Given the description of an element on the screen output the (x, y) to click on. 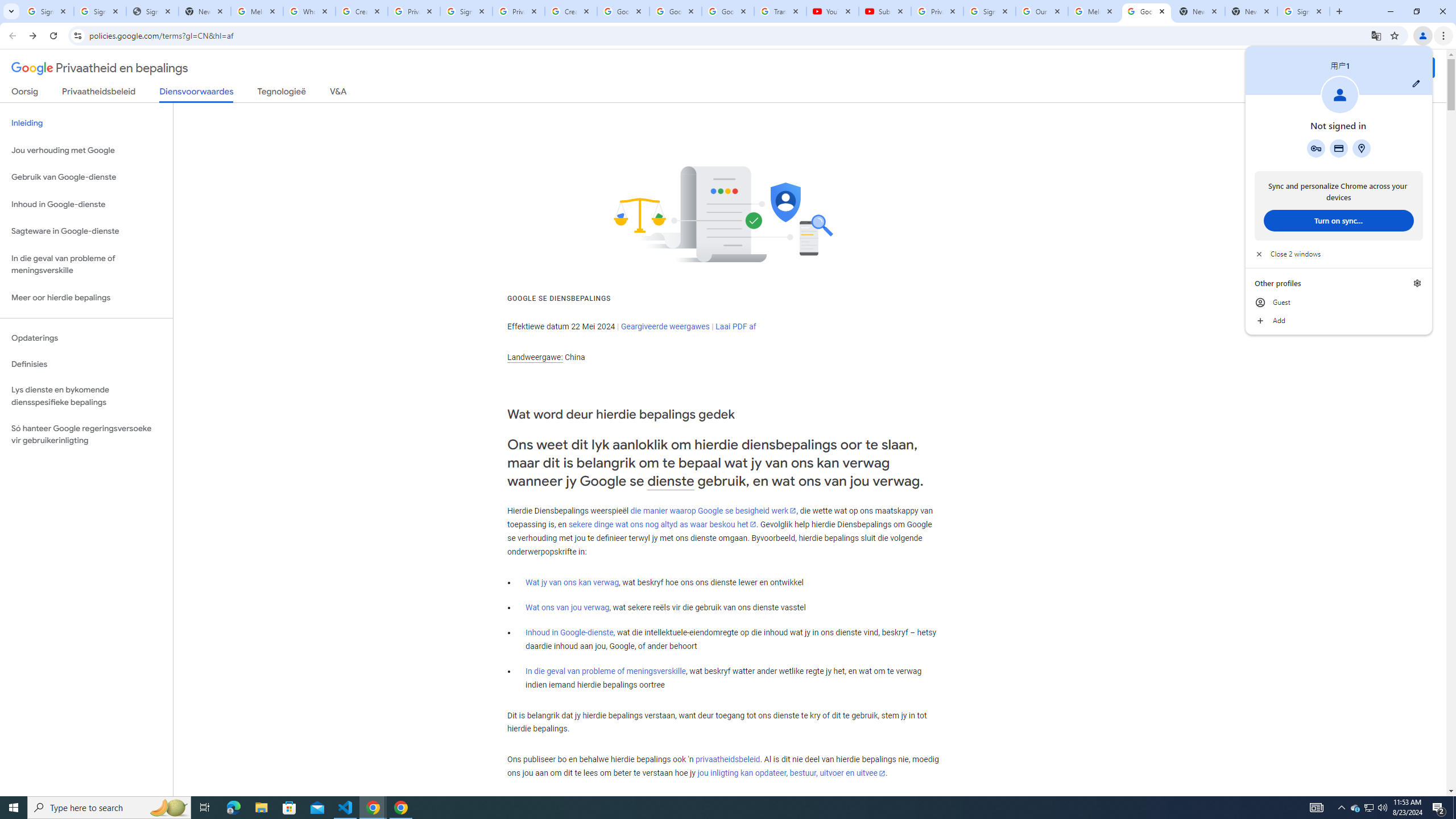
Sign in - Google Accounts (1355, 807)
Subscriptions - YouTube (989, 11)
In die geval van probleme of meningsverskille (884, 11)
Geargiveerde weergawes (605, 670)
Action Center, 2 new notifications (665, 326)
Q2790: 100% (1439, 807)
Microsoft Store (1382, 807)
Opdaterings (289, 807)
Task View (86, 338)
Manage profiles (204, 807)
